Given the description of an element on the screen output the (x, y) to click on. 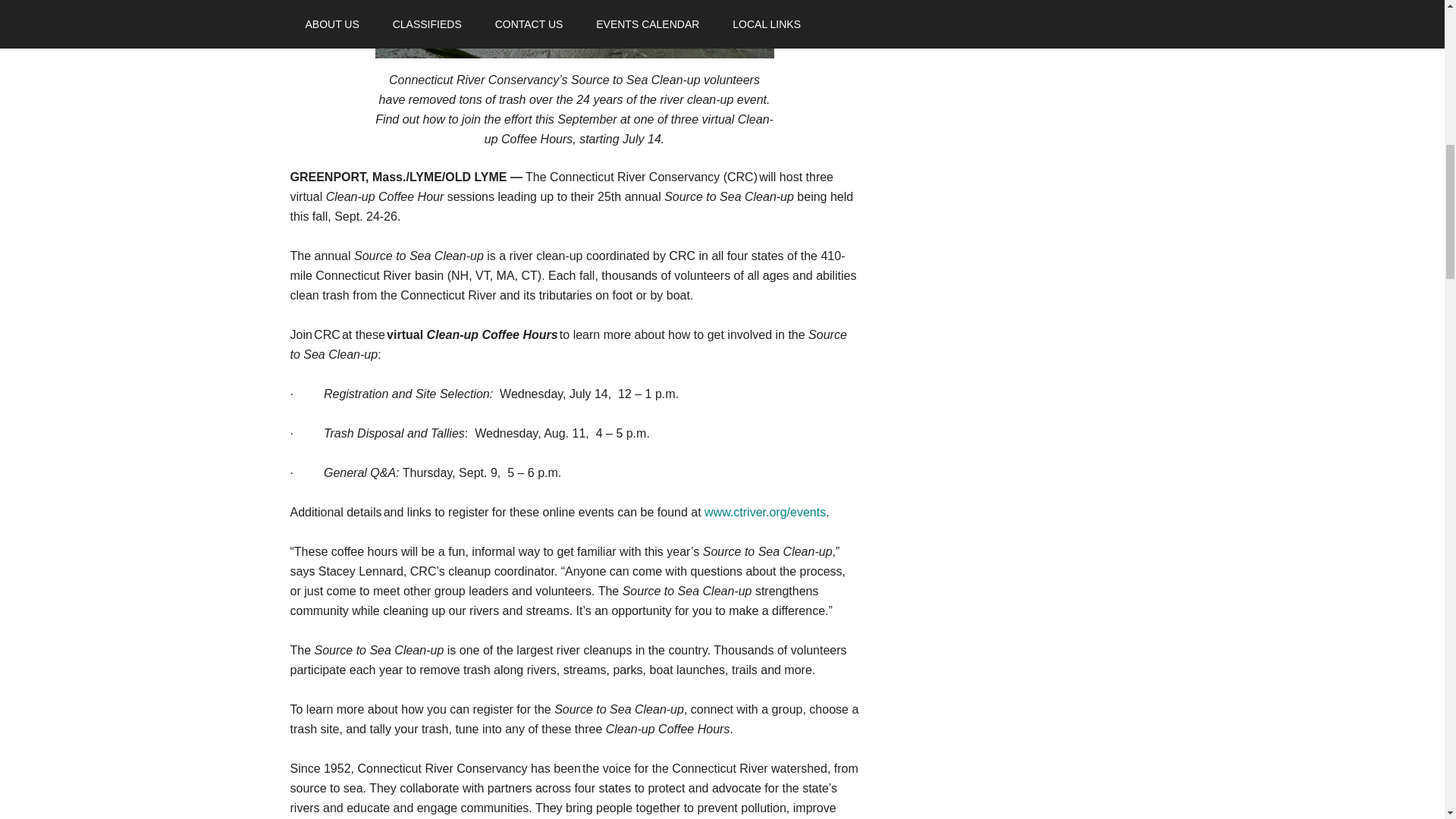
3rd party ad content (994, 480)
3rd party ad content (994, 242)
3rd party ad content (994, 49)
3rd party ad content (994, 719)
